Given the description of an element on the screen output the (x, y) to click on. 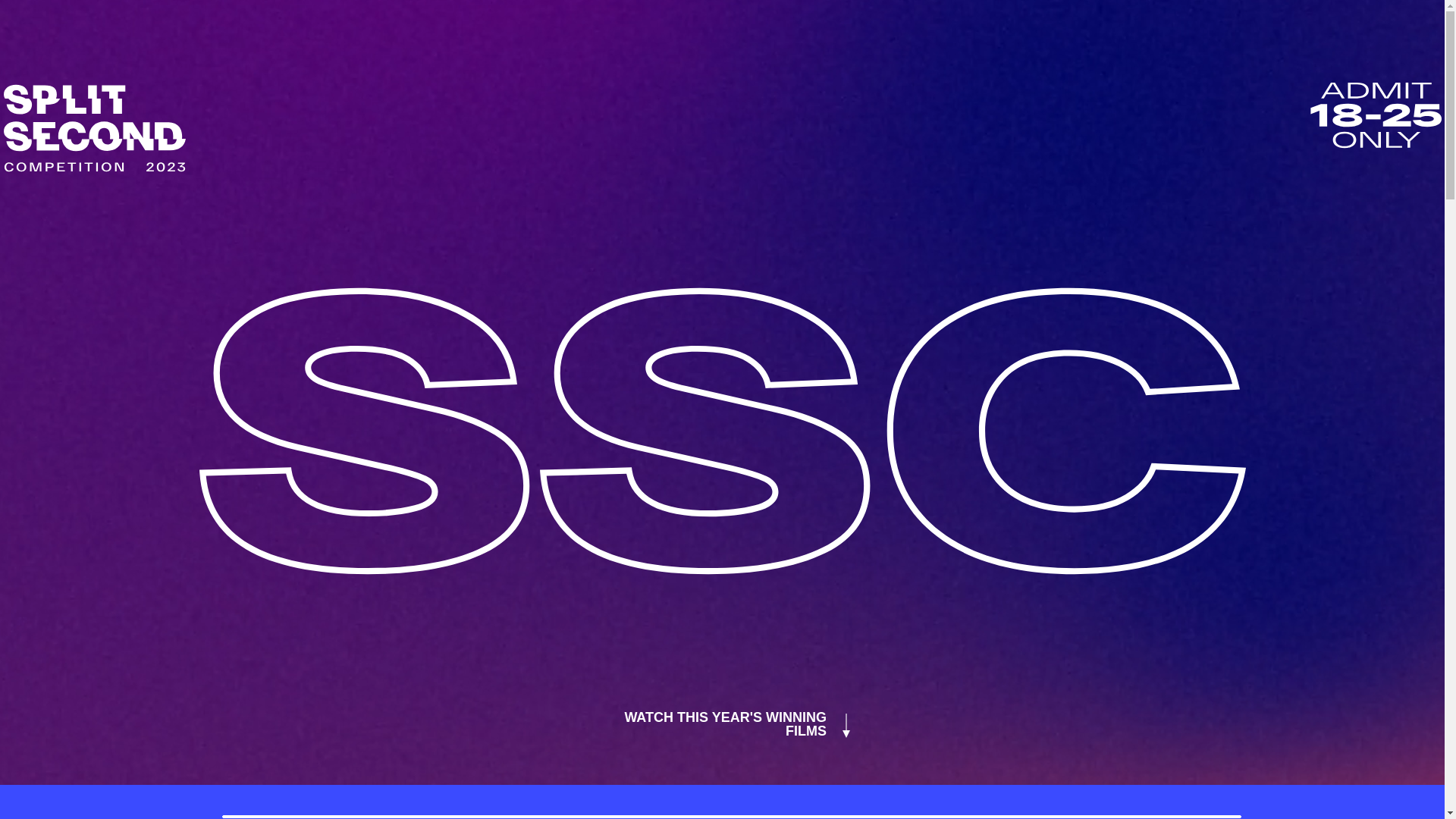
WATCH THIS YEAR'S WINNING FILMS Element type: text (721, 723)
